Given the description of an element on the screen output the (x, y) to click on. 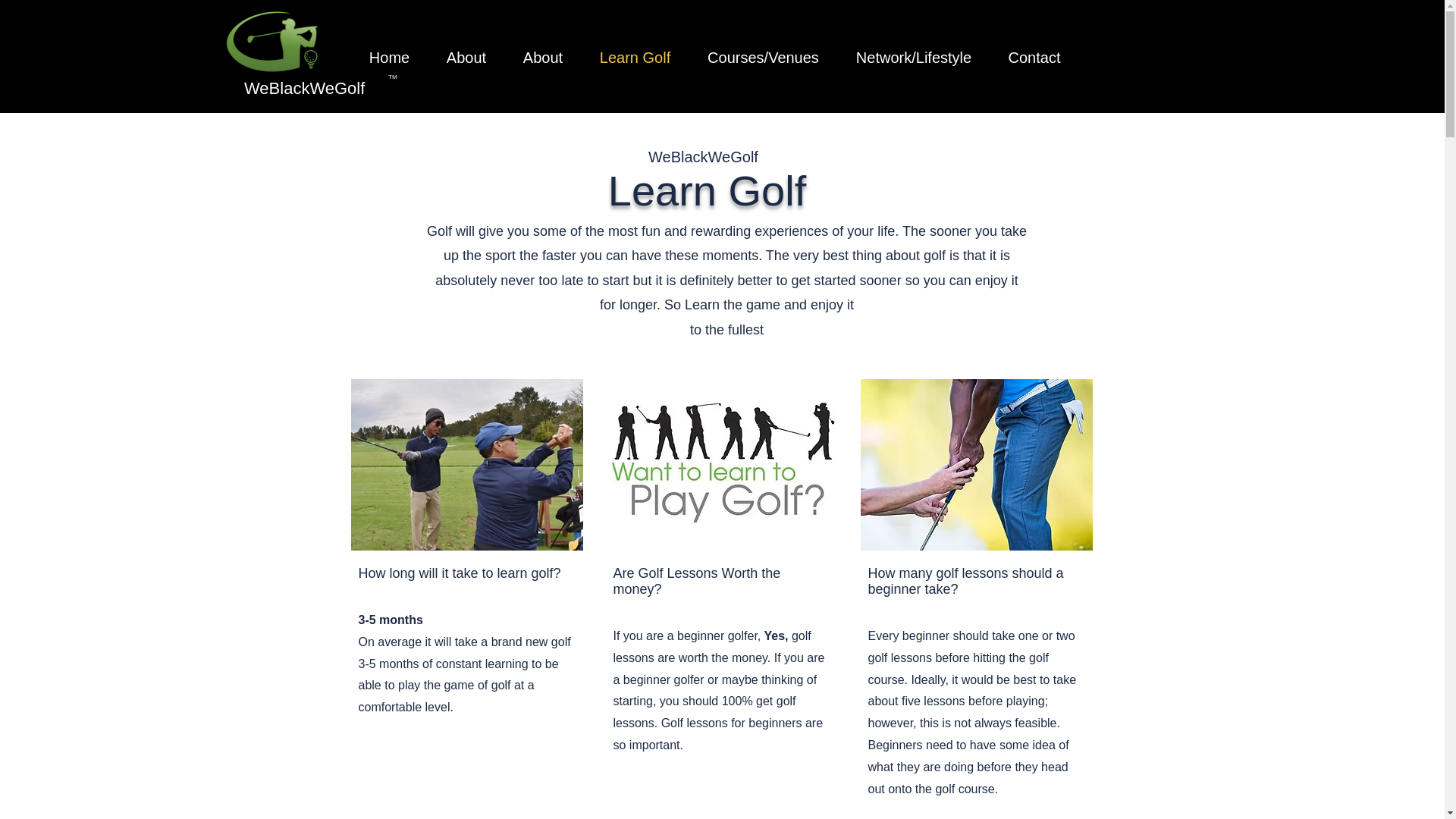
Home (389, 57)
About (542, 57)
Learn Golf (634, 57)
About (465, 57)
WeBlackWeGolf (304, 87)
Contact (1034, 57)
